Given the description of an element on the screen output the (x, y) to click on. 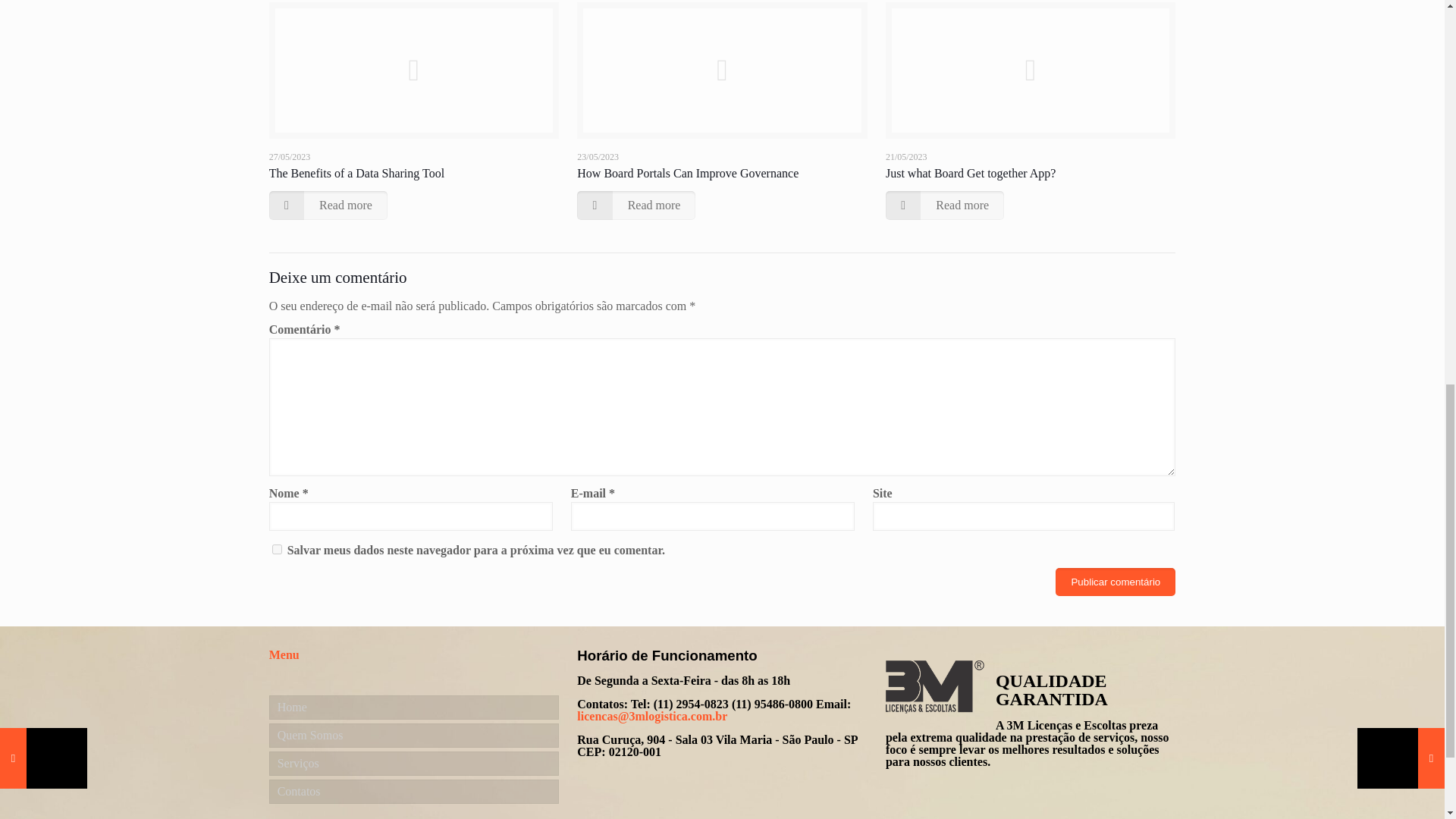
Read more (944, 205)
Read more (328, 205)
Read more (635, 205)
How Board Portals Can Improve Governance (686, 173)
yes (277, 549)
The Benefits of a Data Sharing Tool (356, 173)
Just what Board Get together App? (970, 173)
